Given the description of an element on the screen output the (x, y) to click on. 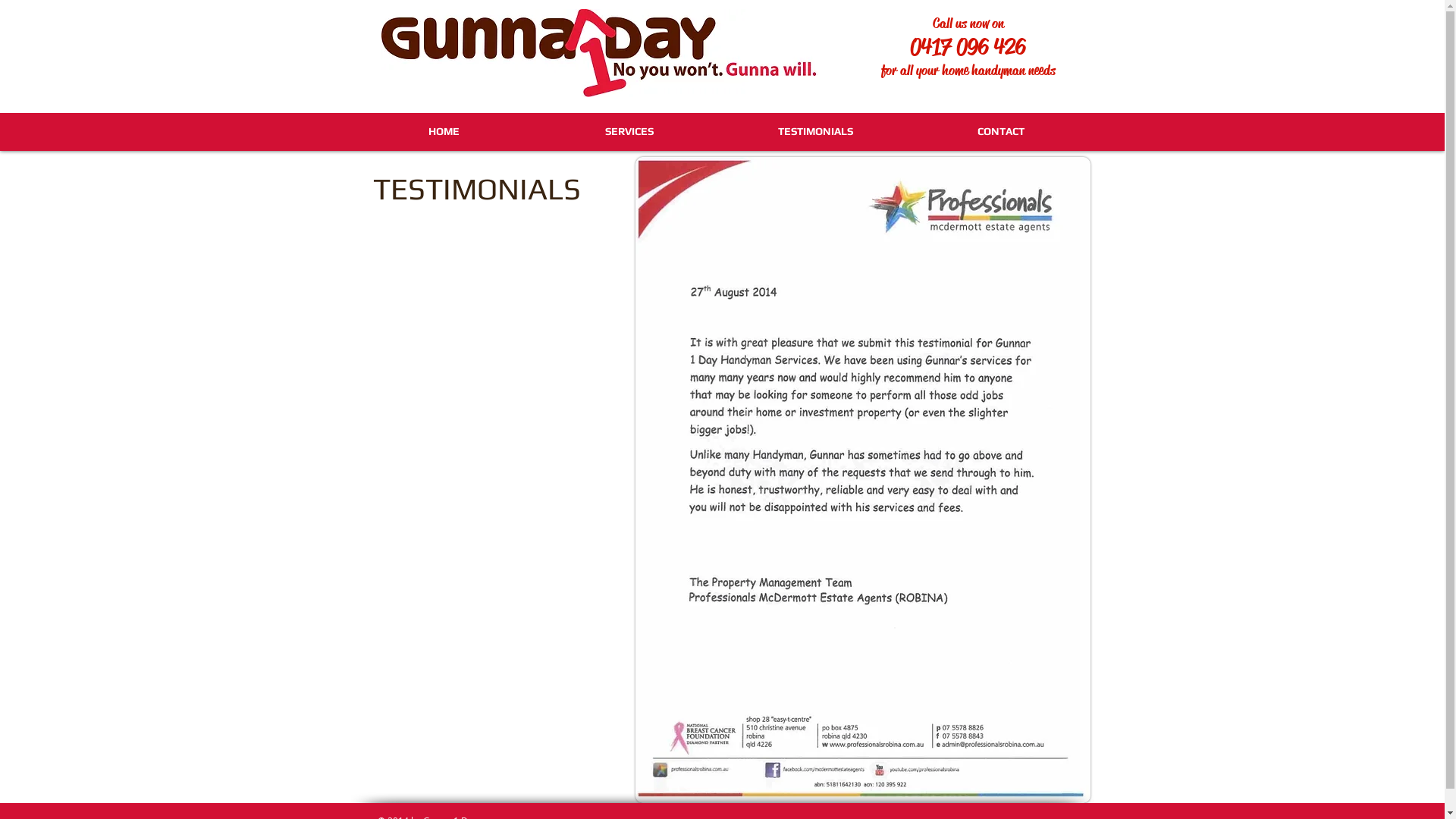
CONTACT Element type: text (1001, 130)
SERVICES Element type: text (629, 130)
Gunna_Logo_NoBG.jpg Element type: hover (608, 53)
TESTIMONIALS Element type: text (814, 130)
HOME Element type: text (443, 130)
